Given the description of an element on the screen output the (x, y) to click on. 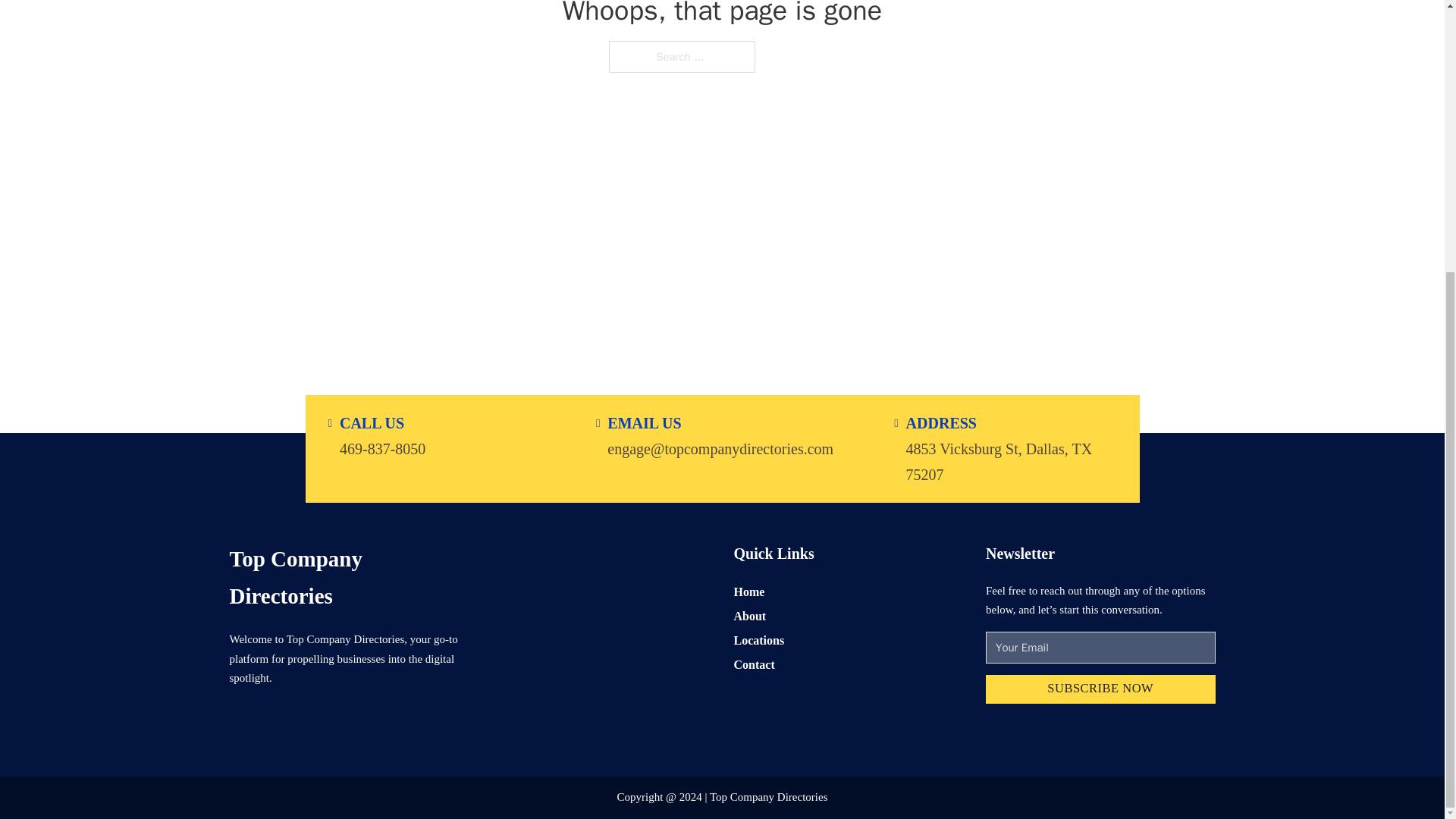
469-837-8050 (382, 447)
About (750, 616)
Top Company Directories (343, 577)
Home (749, 590)
Locations (758, 639)
Contact (753, 664)
SUBSCRIBE NOW (1100, 689)
